Given the description of an element on the screen output the (x, y) to click on. 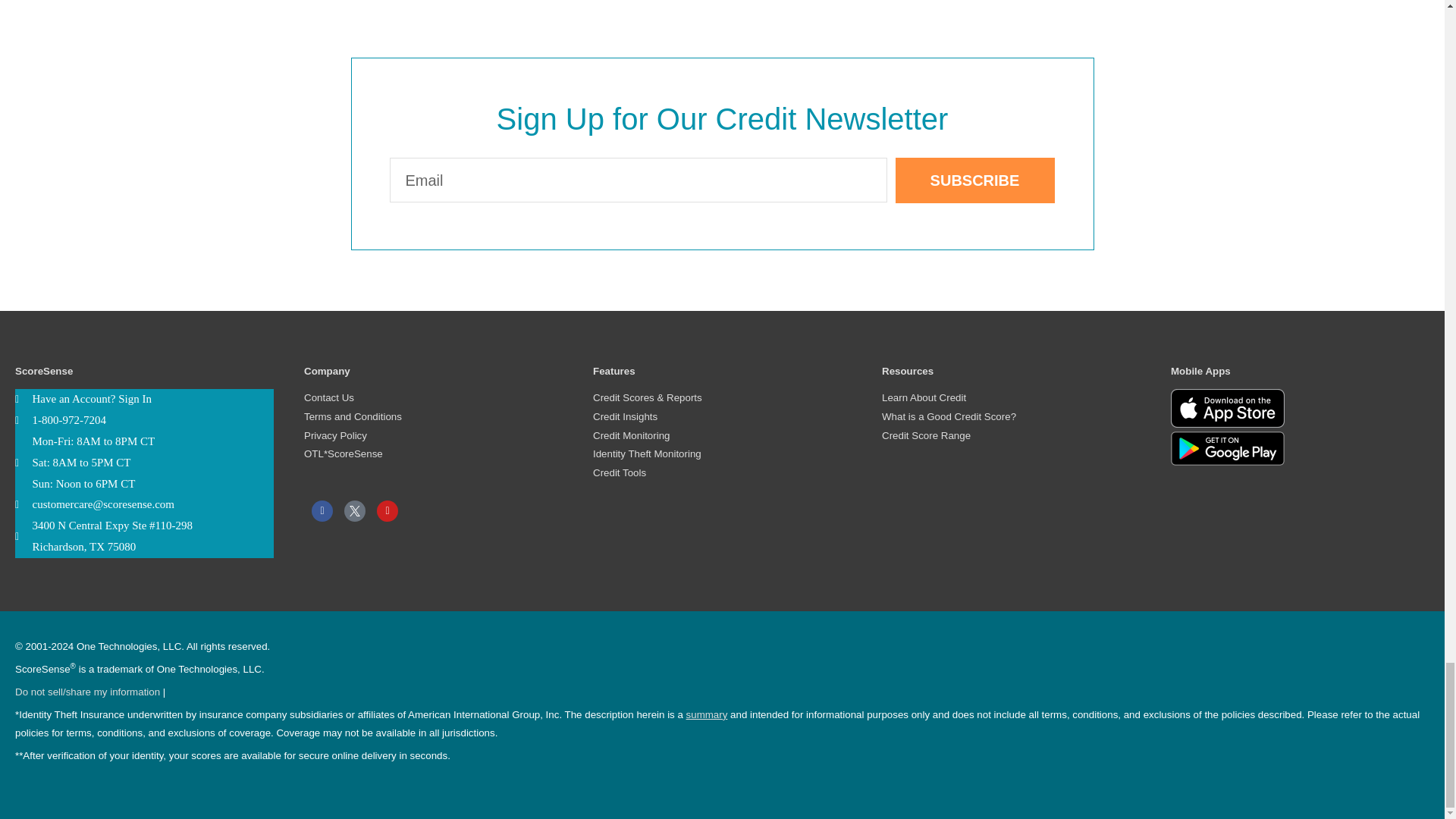
Android App (1227, 447)
iOS App (1227, 407)
